Given the description of an element on the screen output the (x, y) to click on. 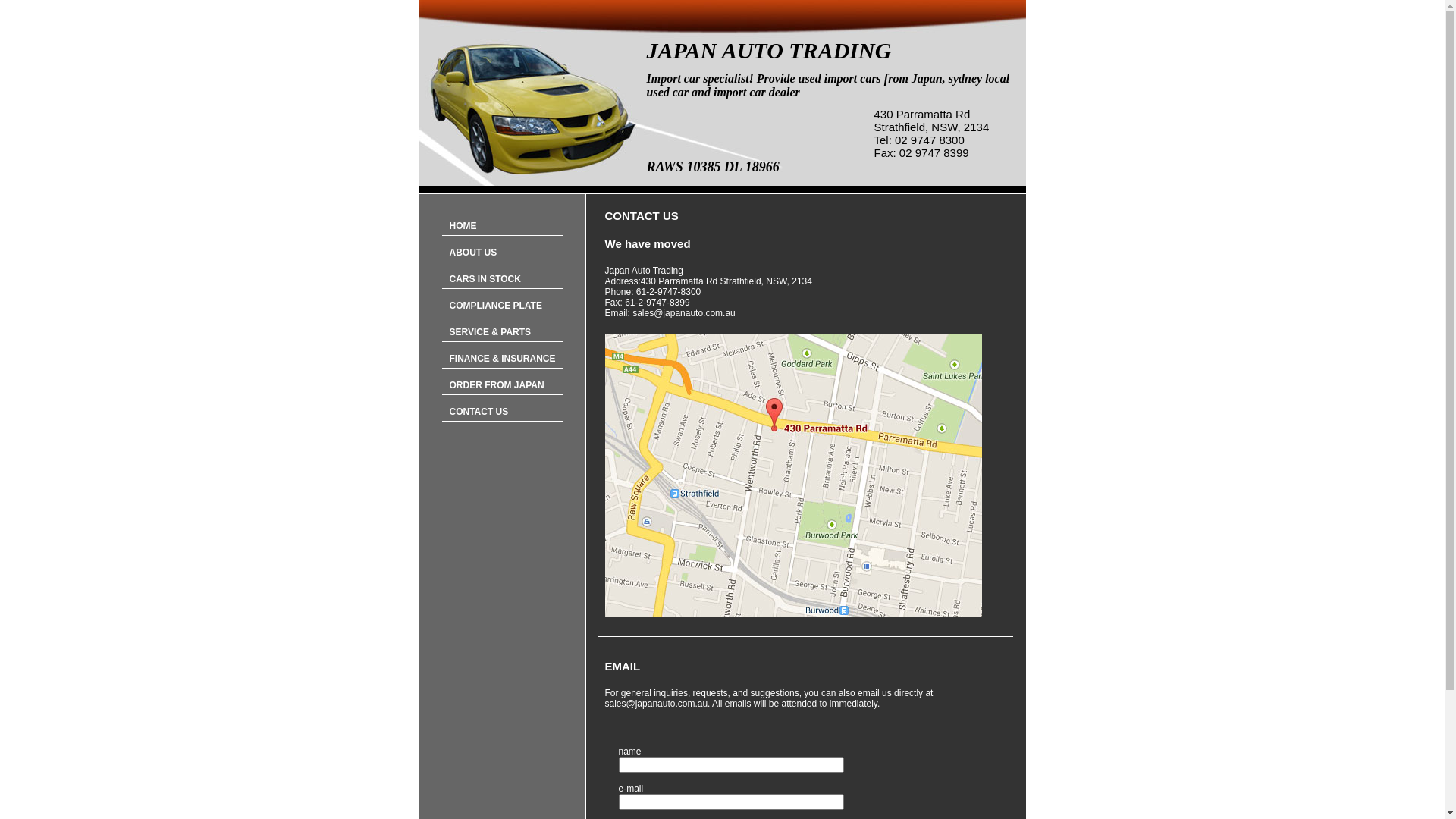
COMPLIANCE PLATE Element type: text (501, 305)
FINANCE & INSURANCE Element type: text (501, 358)
ABOUT US Element type: text (501, 252)
CONTACT US Element type: text (501, 411)
ORDER FROM JAPAN Element type: text (501, 385)
SERVICE & PARTS Element type: text (501, 332)
HOME Element type: text (501, 225)
CARS IN STOCK Element type: text (501, 278)
